Given the description of an element on the screen output the (x, y) to click on. 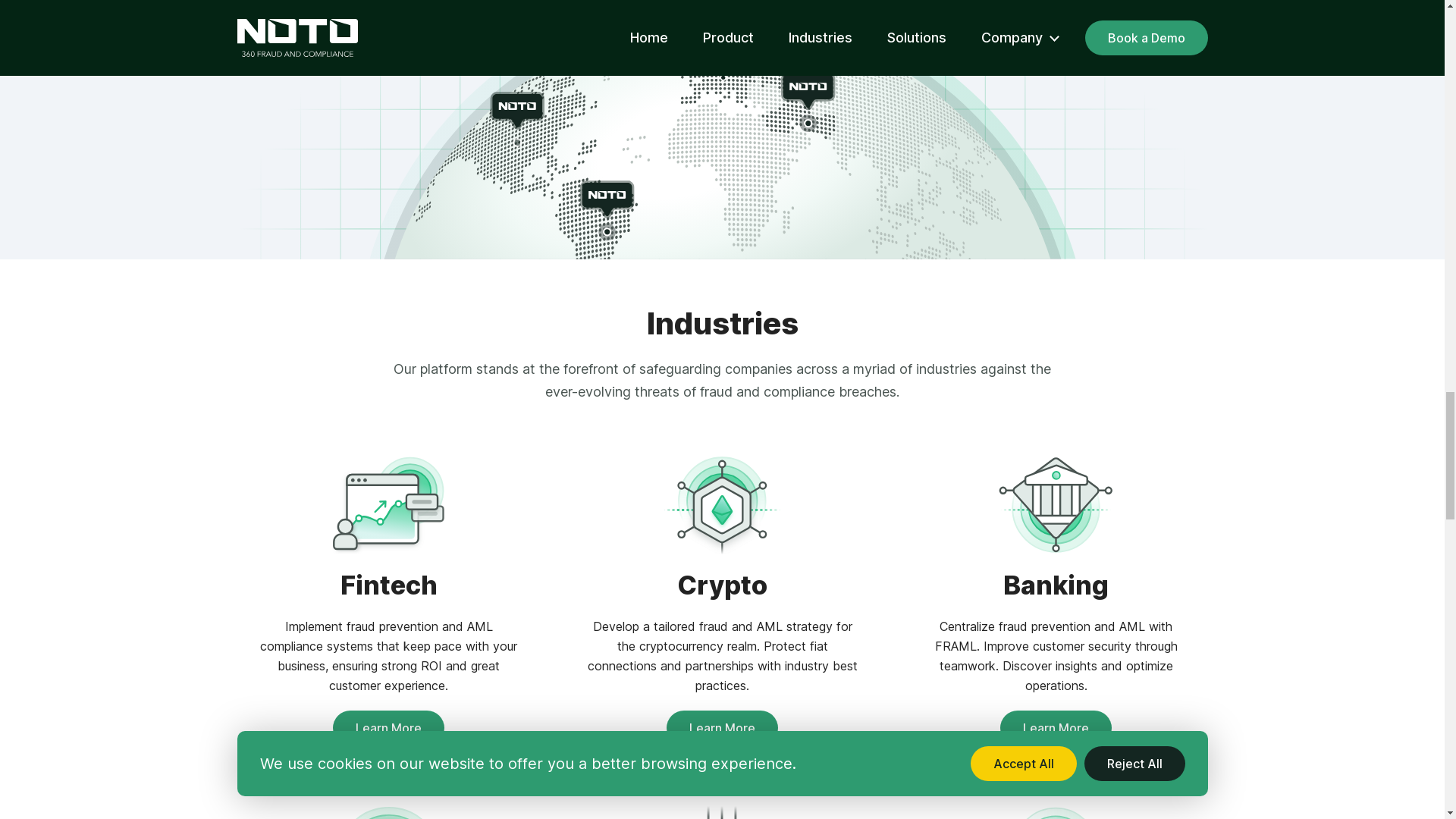
Learn More (721, 727)
Learn More (388, 727)
Learn More (1056, 727)
